Given the description of an element on the screen output the (x, y) to click on. 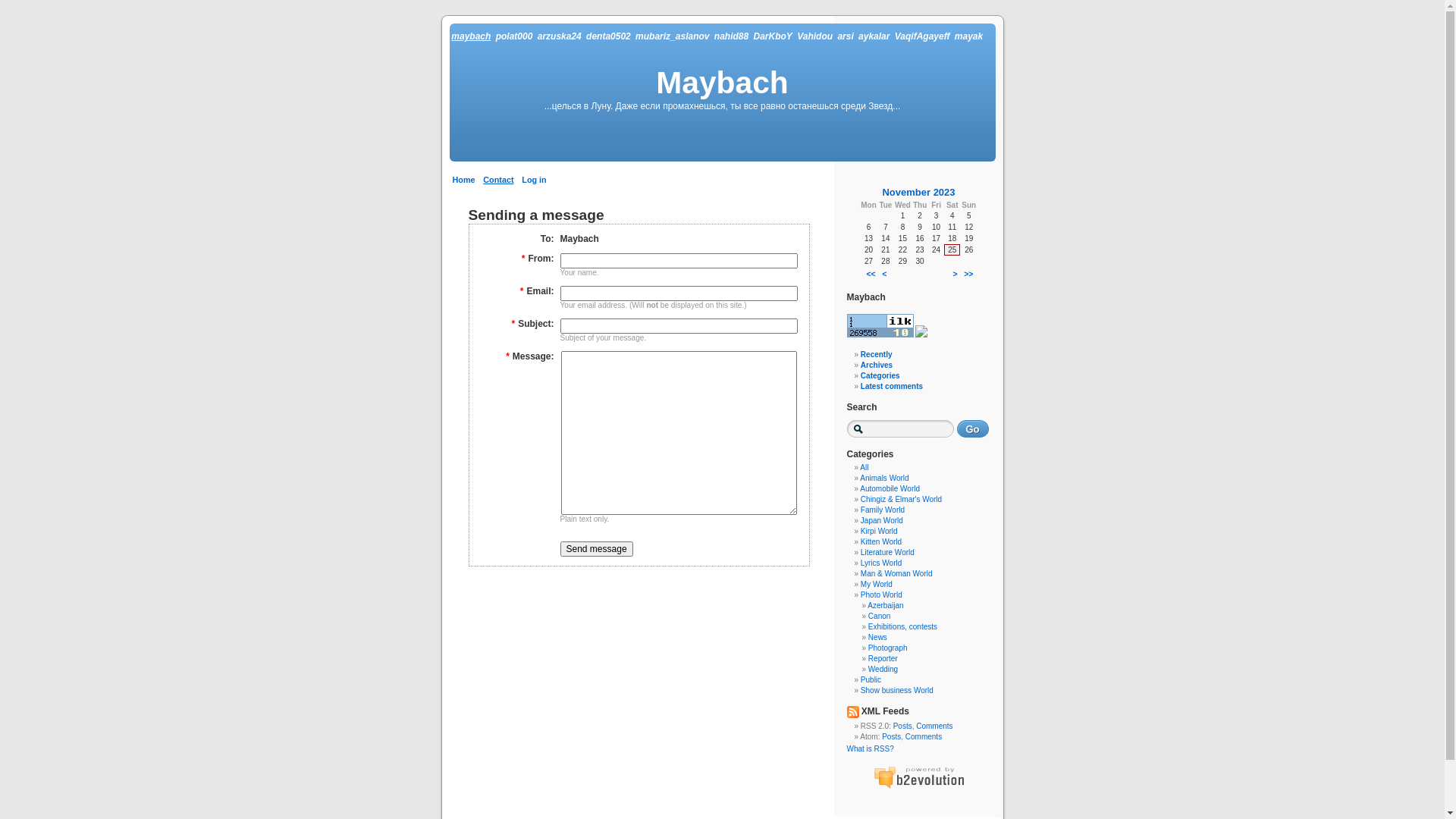
denta0502 Element type: text (608, 36)
News Element type: text (877, 637)
Maybach Element type: text (865, 296)
Enter text to search for Element type: hover (899, 428)
Home Element type: text (462, 179)
Contact Element type: text (498, 179)
Lyrics World Element type: text (880, 562)
<< Element type: text (871, 273)
b2evolution: next generation blog software Element type: hover (918, 777)
Log in Element type: text (533, 179)
Chingiz & Elmar's World Element type: text (900, 499)
Man & Woman World Element type: text (896, 573)
Categories Element type: text (880, 375)
Kirpi World Element type: text (878, 531)
Japan World Element type: text (881, 520)
mayak Element type: text (968, 36)
XML Feed Element type: hover (852, 712)
maybach Element type: text (470, 36)
Comments Element type: text (923, 736)
Public Element type: text (870, 679)
> Element type: text (955, 273)
< Element type: text (883, 273)
Posts Element type: text (902, 725)
Kitten World Element type: text (880, 541)
polat000 Element type: text (514, 36)
Canon Element type: text (879, 615)
Archives Element type: text (876, 364)
What is RSS? Element type: text (869, 748)
Maybach Element type: text (721, 82)
b2evolution: next generation blog software Element type: hover (918, 786)
Literature World Element type: text (887, 552)
Go Element type: text (972, 429)
Show business World Element type: text (896, 690)
All Element type: text (863, 467)
aykalar Element type: text (873, 36)
Reporter Element type: text (882, 658)
arzuska24 Element type: text (559, 36)
Photograph Element type: text (887, 647)
nahid88 Element type: text (731, 36)
arsi Element type: text (845, 36)
Posts Element type: text (890, 736)
mubariz_aslanov Element type: text (672, 36)
Photo World Element type: text (881, 594)
Azerbaijan Element type: text (885, 605)
>> Element type: text (968, 273)
Send message Element type: text (595, 548)
VaqifAgayeff Element type: text (922, 36)
Animals World Element type: text (883, 477)
Exhibitions, contests Element type: text (902, 626)
My World Element type: text (876, 584)
DarKboY Element type: text (772, 36)
Automobile World Element type: text (889, 488)
November 2023 Element type: text (917, 191)
Recently Element type: text (876, 354)
Comments Element type: text (934, 725)
Vahidou Element type: text (814, 36)
Family World Element type: text (882, 509)
Latest comments Element type: text (891, 386)
Wedding Element type: text (882, 669)
